Given the description of an element on the screen output the (x, y) to click on. 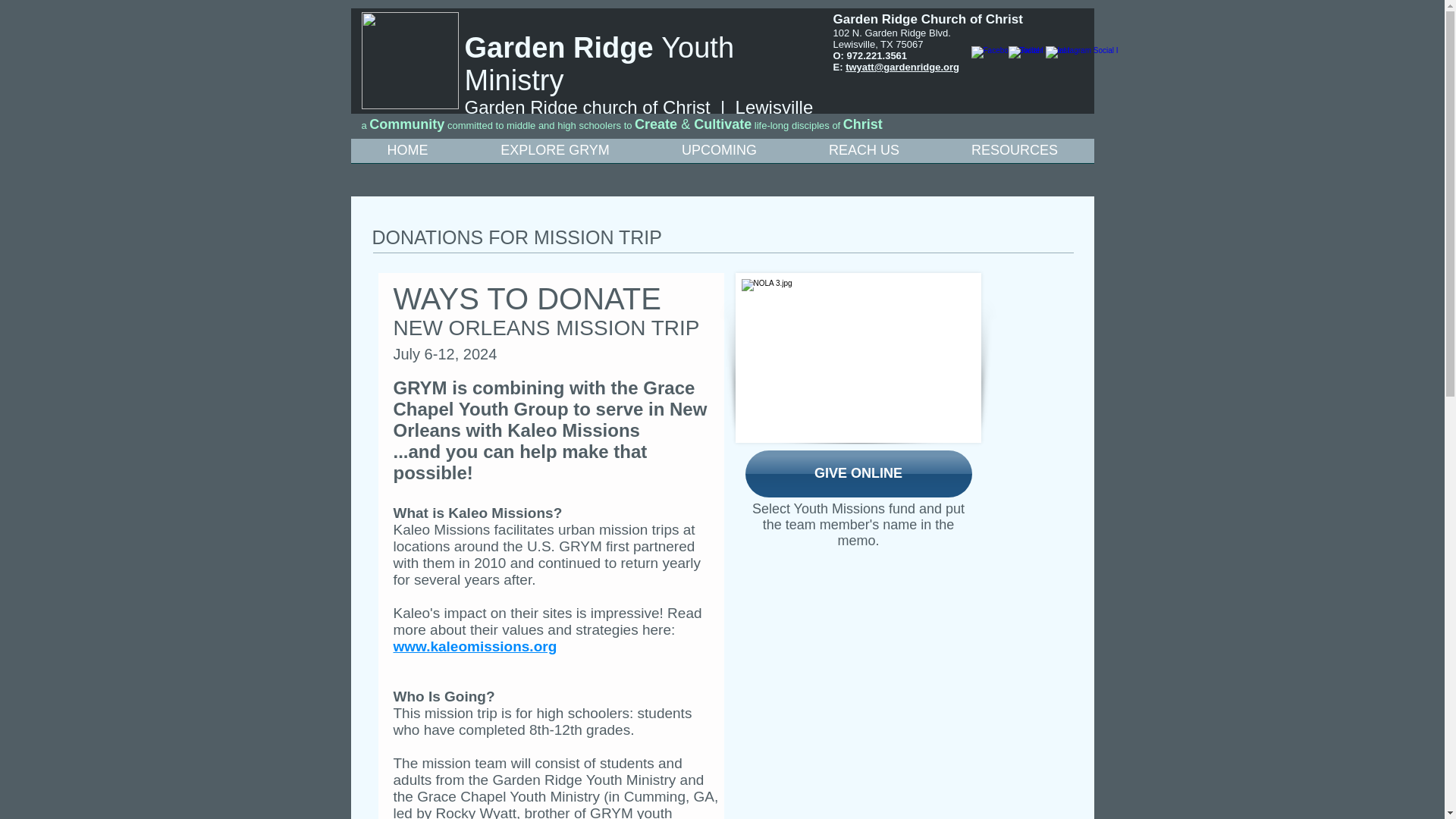
HOME (407, 155)
UPCOMING (719, 155)
EXPLORE GRYM (554, 155)
www.kaleomissions.org (474, 646)
REACH US (864, 155)
GIVE ONLINE (857, 473)
RESOURCES (1015, 155)
